Given the description of an element on the screen output the (x, y) to click on. 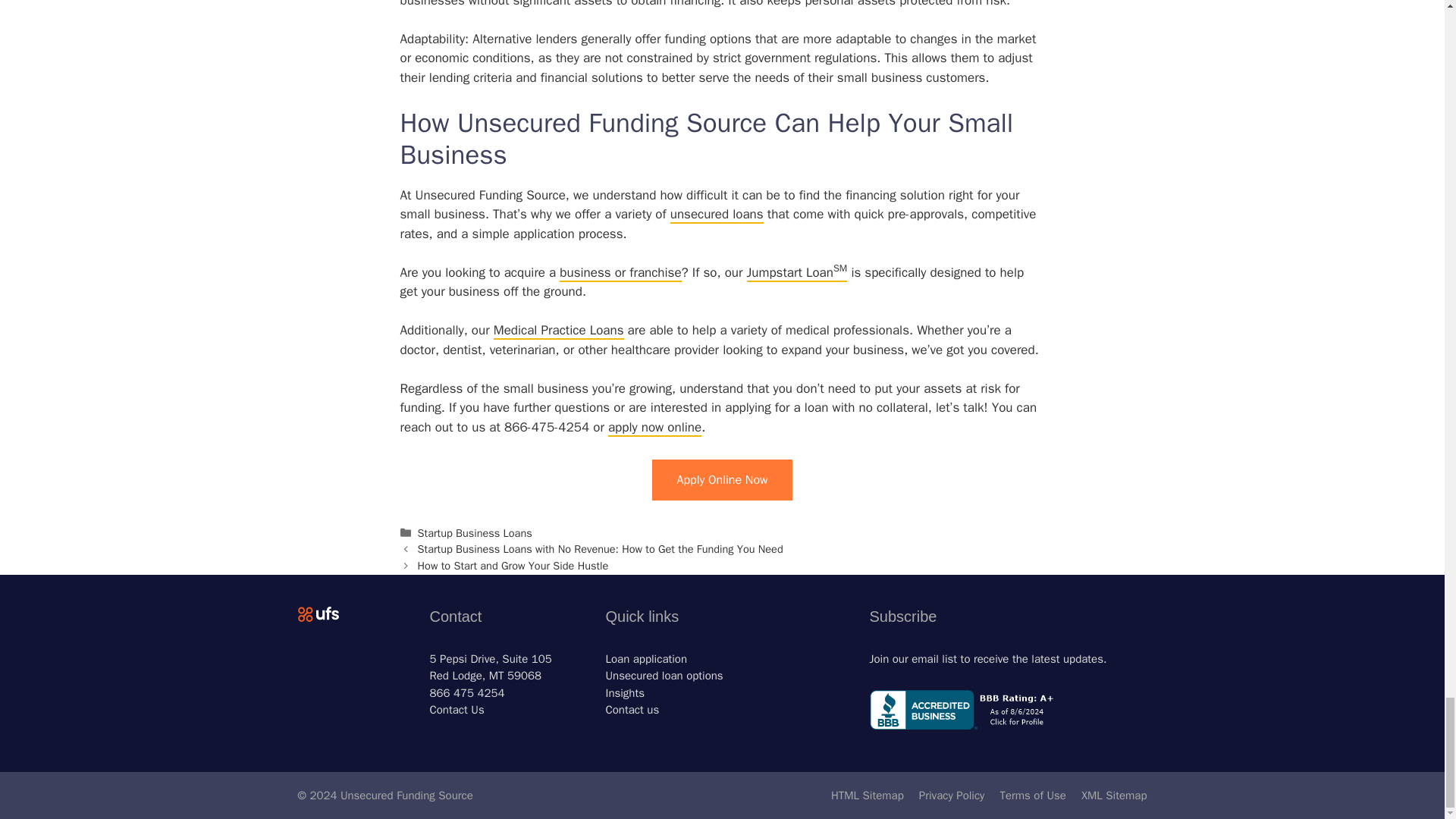
Contact us (632, 709)
Unsecured Loan (663, 675)
Loan Application (646, 658)
Finance blog (625, 693)
